Given the description of an element on the screen output the (x, y) to click on. 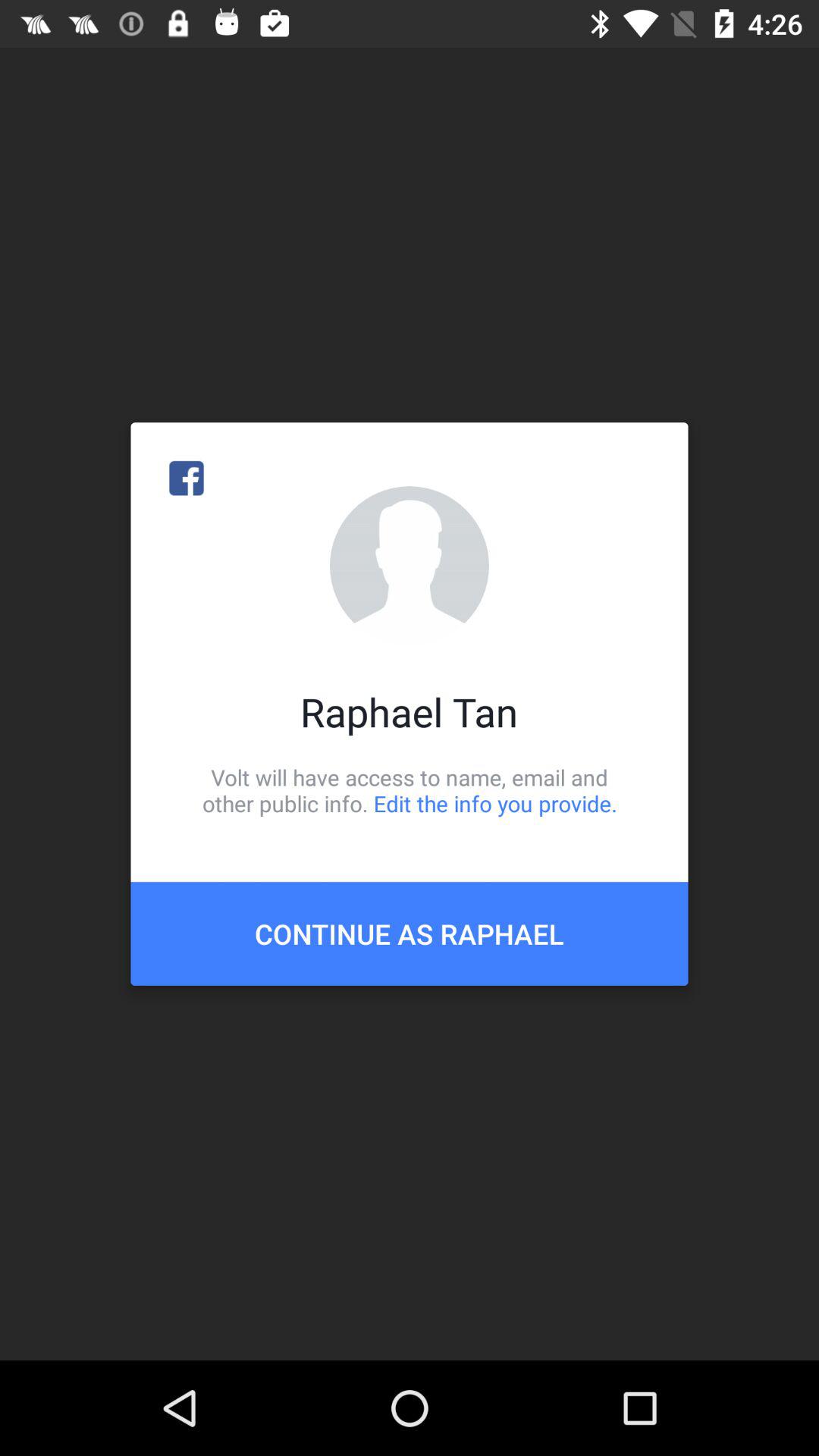
select volt will have icon (409, 790)
